Given the description of an element on the screen output the (x, y) to click on. 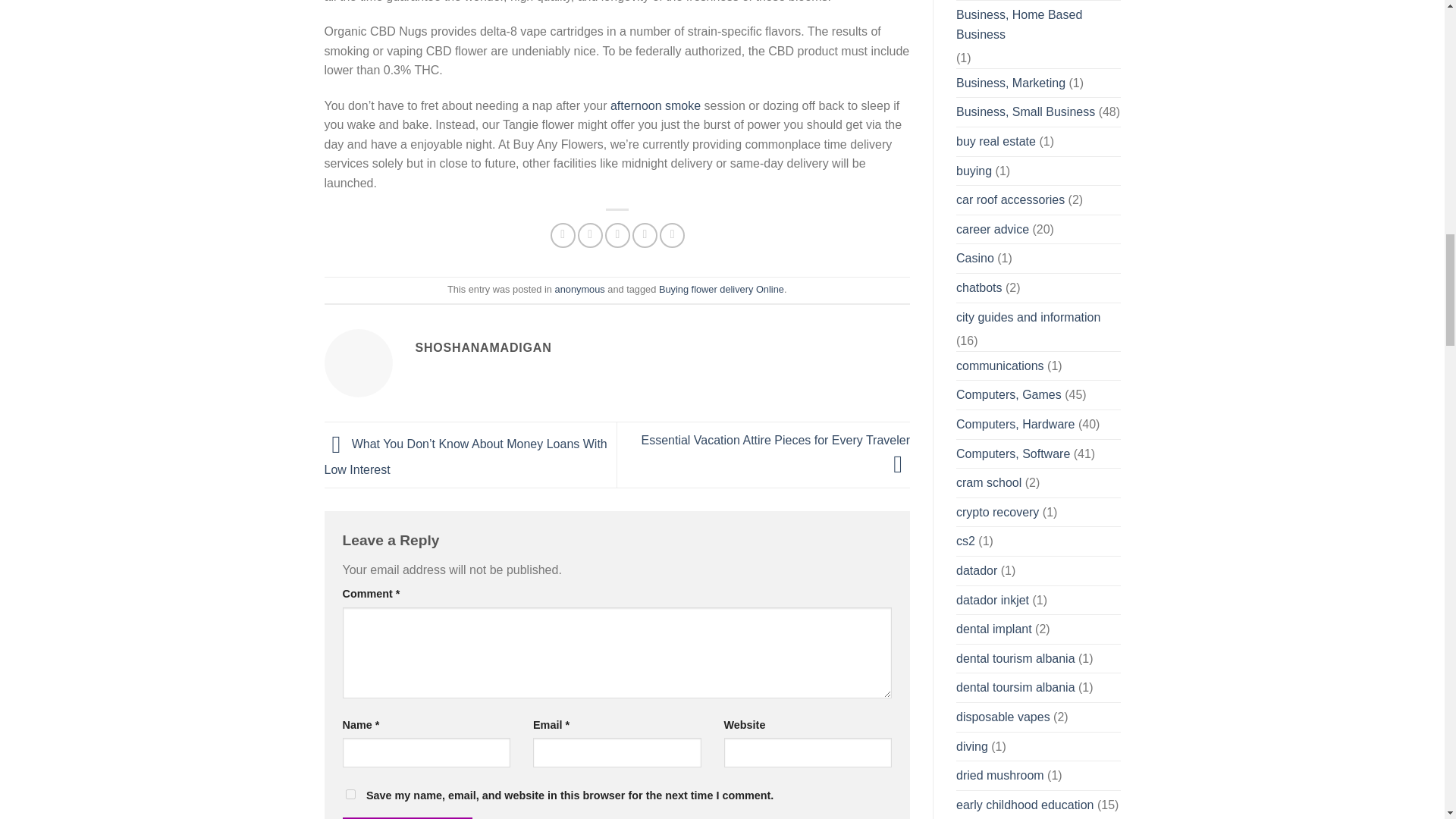
Post Comment (407, 818)
afternoon smoke (655, 105)
yes (350, 794)
Post Comment (407, 818)
anonymous (579, 288)
Essential Vacation Attire Pieces for Every Traveler (775, 452)
Buying flower delivery Online (721, 288)
